Given the description of an element on the screen output the (x, y) to click on. 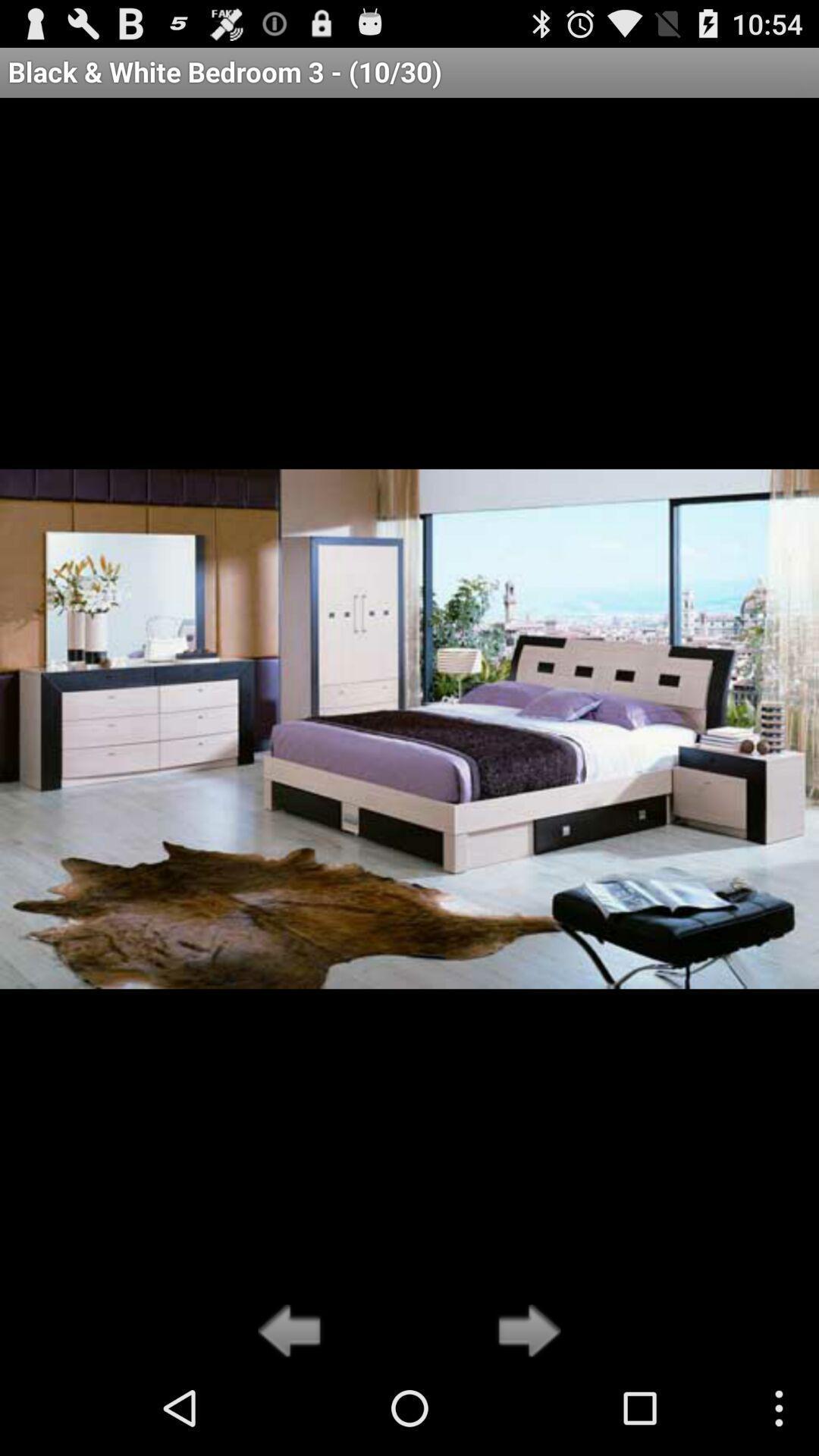
scrolls to the left (293, 1332)
